Given the description of an element on the screen output the (x, y) to click on. 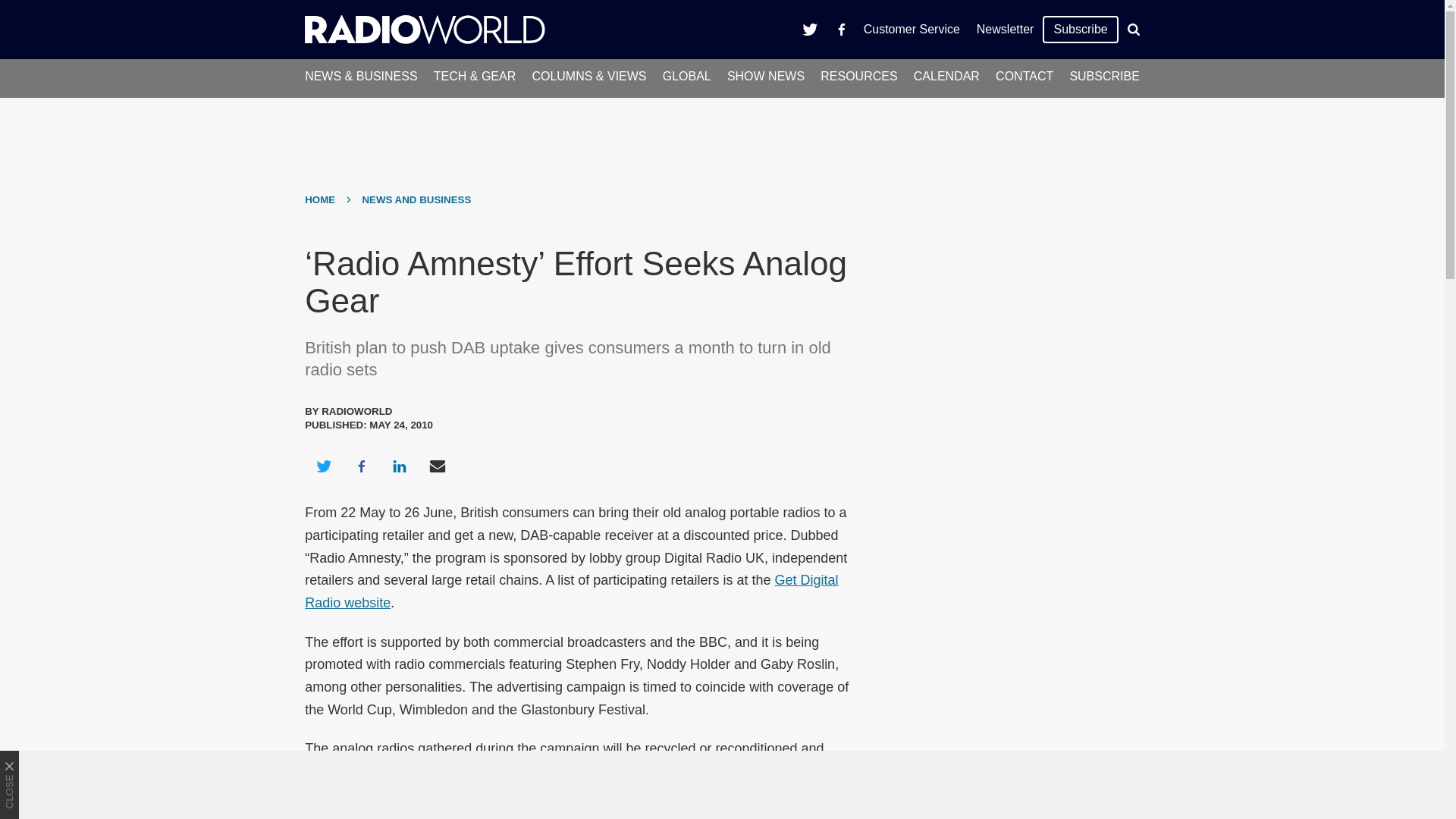
Customer Service (912, 29)
Share on LinkedIn (399, 466)
Newsletter (1005, 29)
Share via Email (438, 466)
Share on Twitter (323, 466)
Share on Facebook (361, 466)
